Given the description of an element on the screen output the (x, y) to click on. 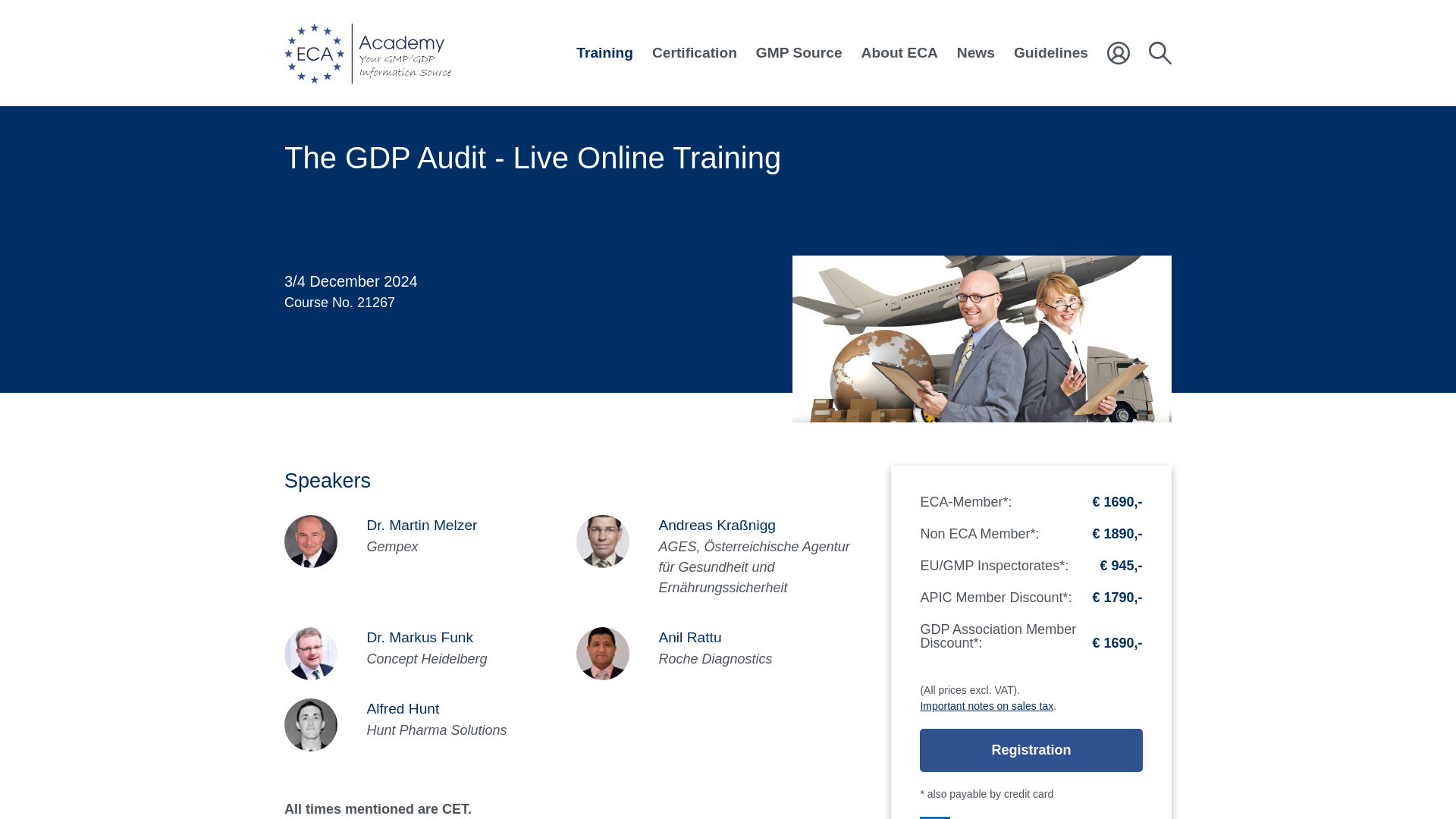
ECA Academy - ECA Academy (367, 53)
